Given the description of an element on the screen output the (x, y) to click on. 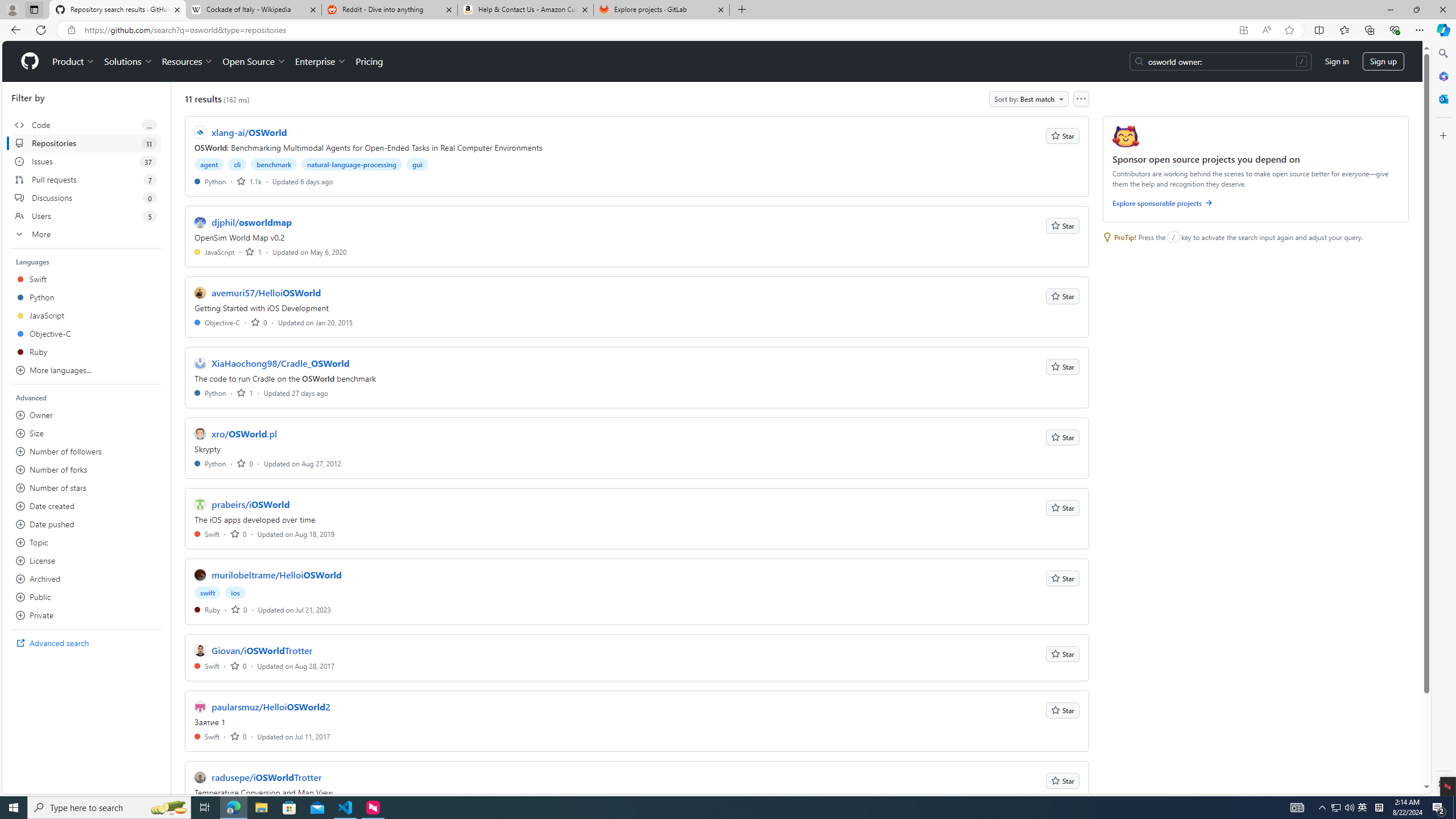
Advanced search (86, 642)
Explore sponsorable projects (1255, 205)
gui (417, 164)
0 stars (238, 736)
